Given the description of an element on the screen output the (x, y) to click on. 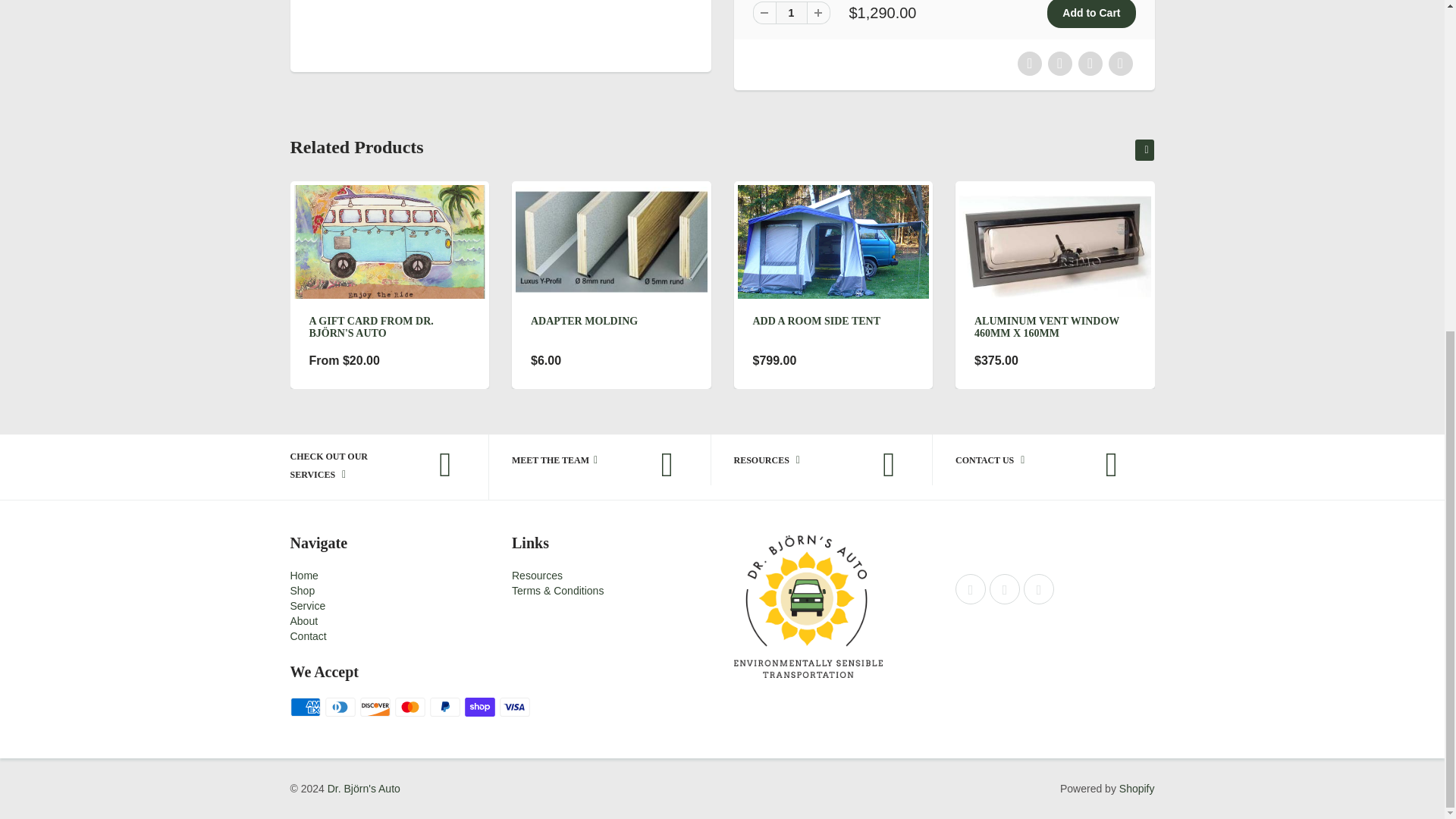
Propane Tank T3 Westfalia (500, 26)
Facebook (970, 589)
Instagram (1005, 589)
Add to Cart (1090, 13)
YouTube (1038, 589)
1 (790, 12)
